Given the description of an element on the screen output the (x, y) to click on. 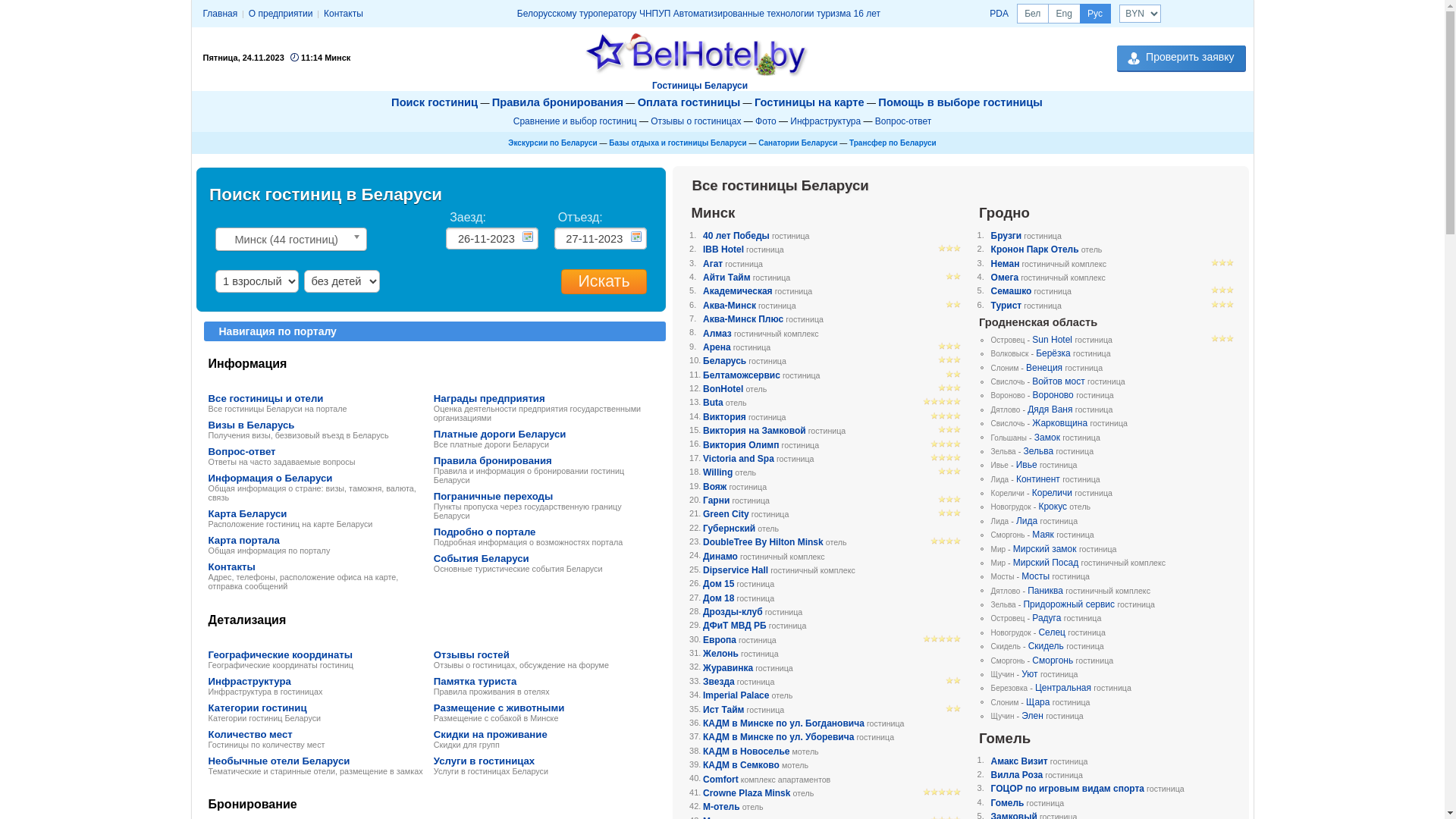
Eng Element type: text (1064, 13)
Sun Hotel Element type: text (1053, 339)
Dipservice Hall Element type: text (735, 569)
... Element type: hover (527, 236)
DoubleTree By Hilton Minsk Element type: text (762, 541)
... Element type: hover (636, 236)
Victoria and Spa Element type: text (738, 458)
Crowne Plaza Minsk Element type: text (746, 792)
Willing Element type: text (717, 472)
Comfort Element type: text (720, 779)
Buta Element type: text (712, 402)
PDA Element type: text (998, 13)
Imperial Palace Element type: text (735, 695)
BonHotel Element type: text (722, 388)
Green City Element type: text (725, 513)
IBB Hotel Element type: text (722, 249)
